Given the description of an element on the screen output the (x, y) to click on. 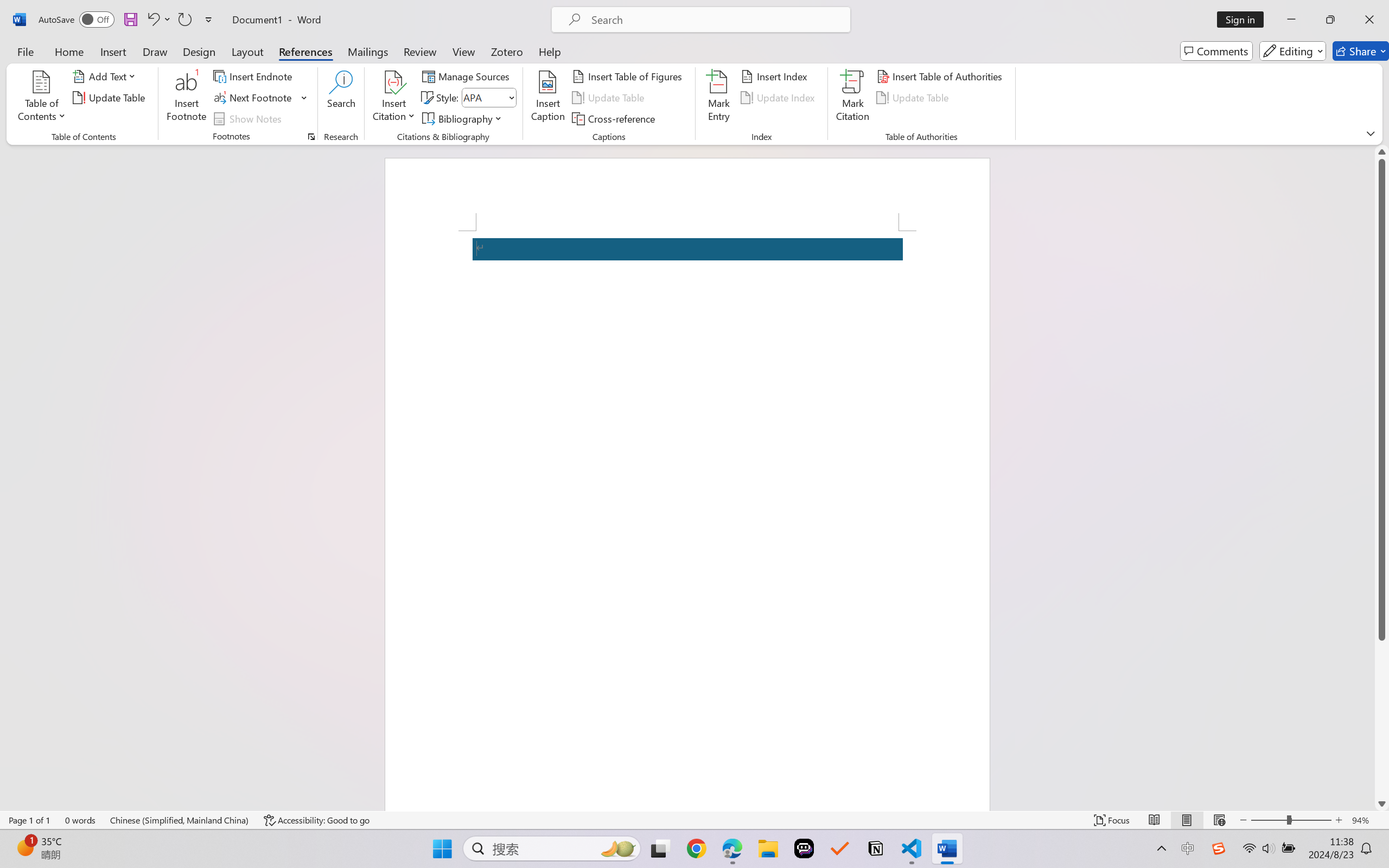
Page down (1382, 718)
Show Notes (248, 118)
Update Table (914, 97)
Next Footnote (253, 97)
Mark Entry... (718, 97)
Editing (1292, 50)
